Given the description of an element on the screen output the (x, y) to click on. 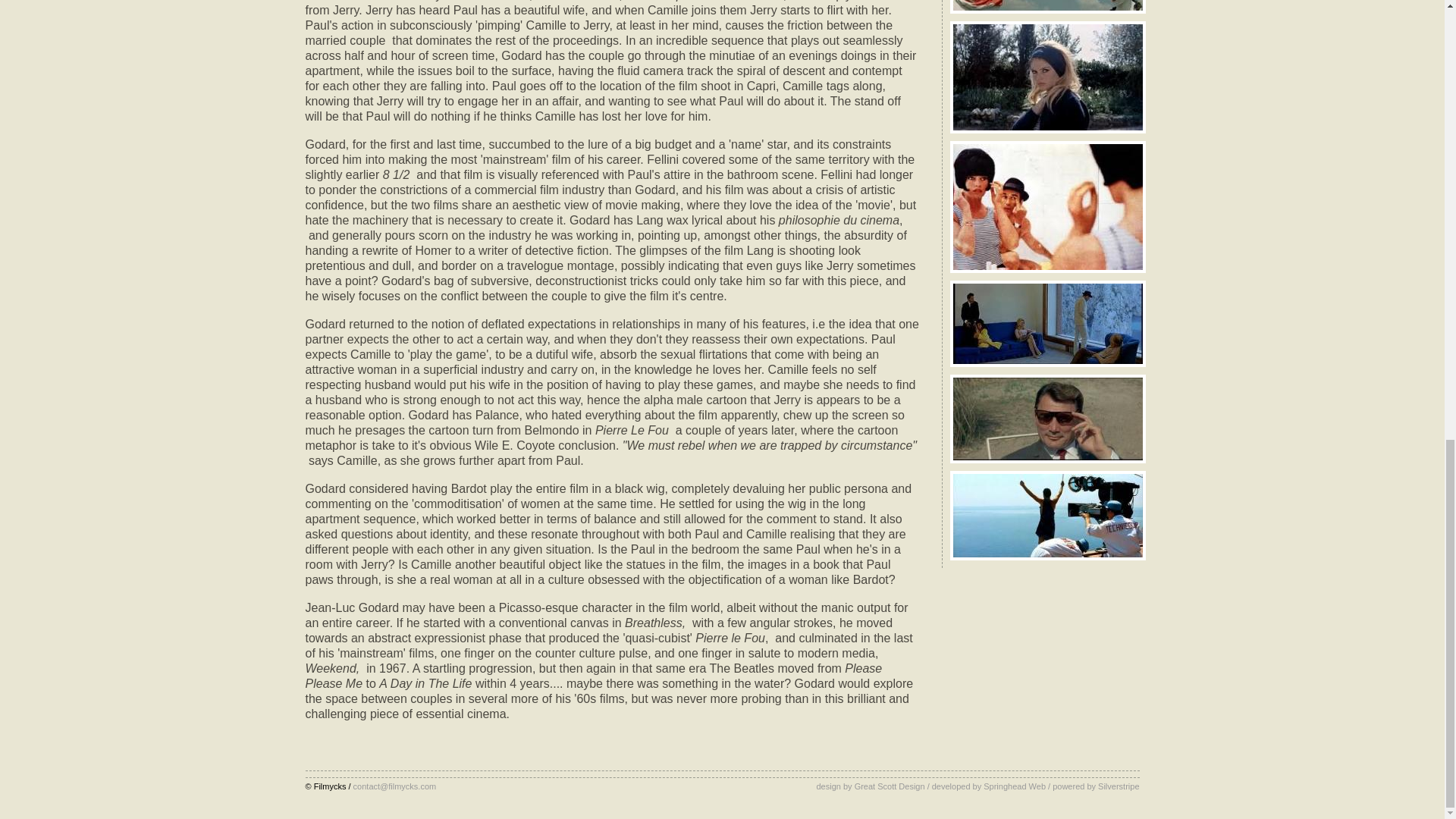
Springhead Web (1014, 786)
Great Scott Design (889, 786)
Silverstripe (1117, 786)
